Given the description of an element on the screen output the (x, y) to click on. 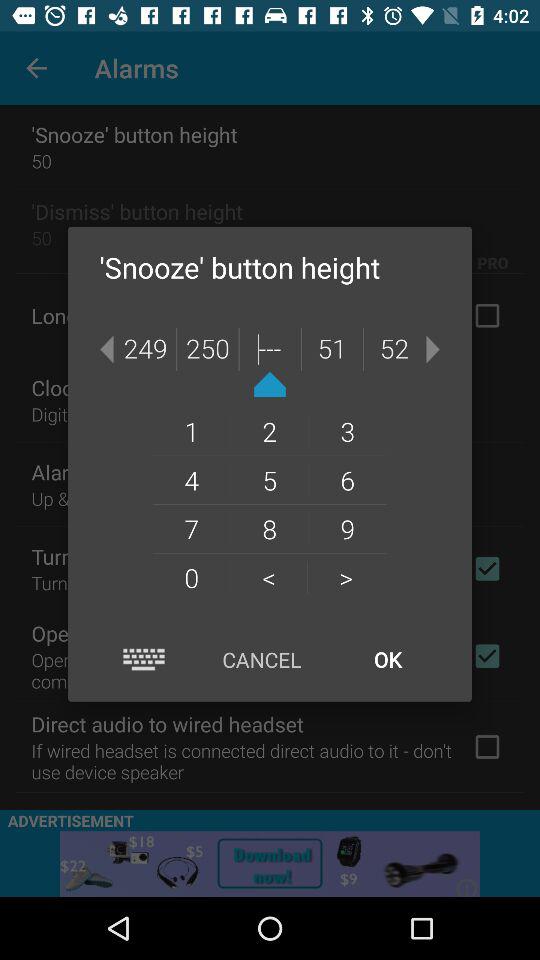
turn off the item to the left of the ok icon (261, 659)
